Given the description of an element on the screen output the (x, y) to click on. 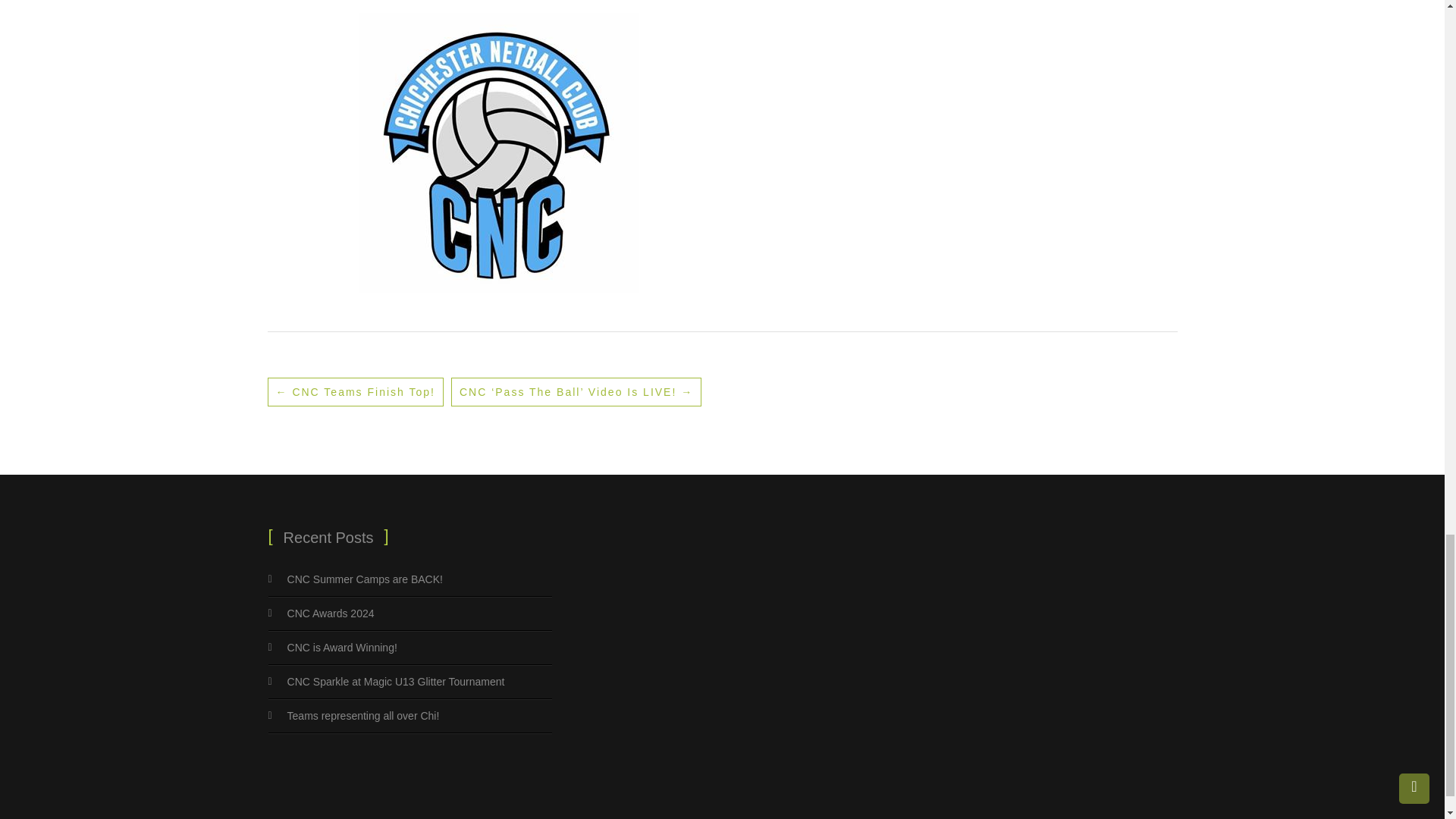
CNC is Award Winning! (341, 647)
CNC Sparkle at Magic U13 Glitter Tournament (395, 681)
CNC Awards 2024 (330, 613)
CNC Summer Camps are BACK! (364, 579)
Teams representing all over Chi! (362, 715)
